Given the description of an element on the screen output the (x, y) to click on. 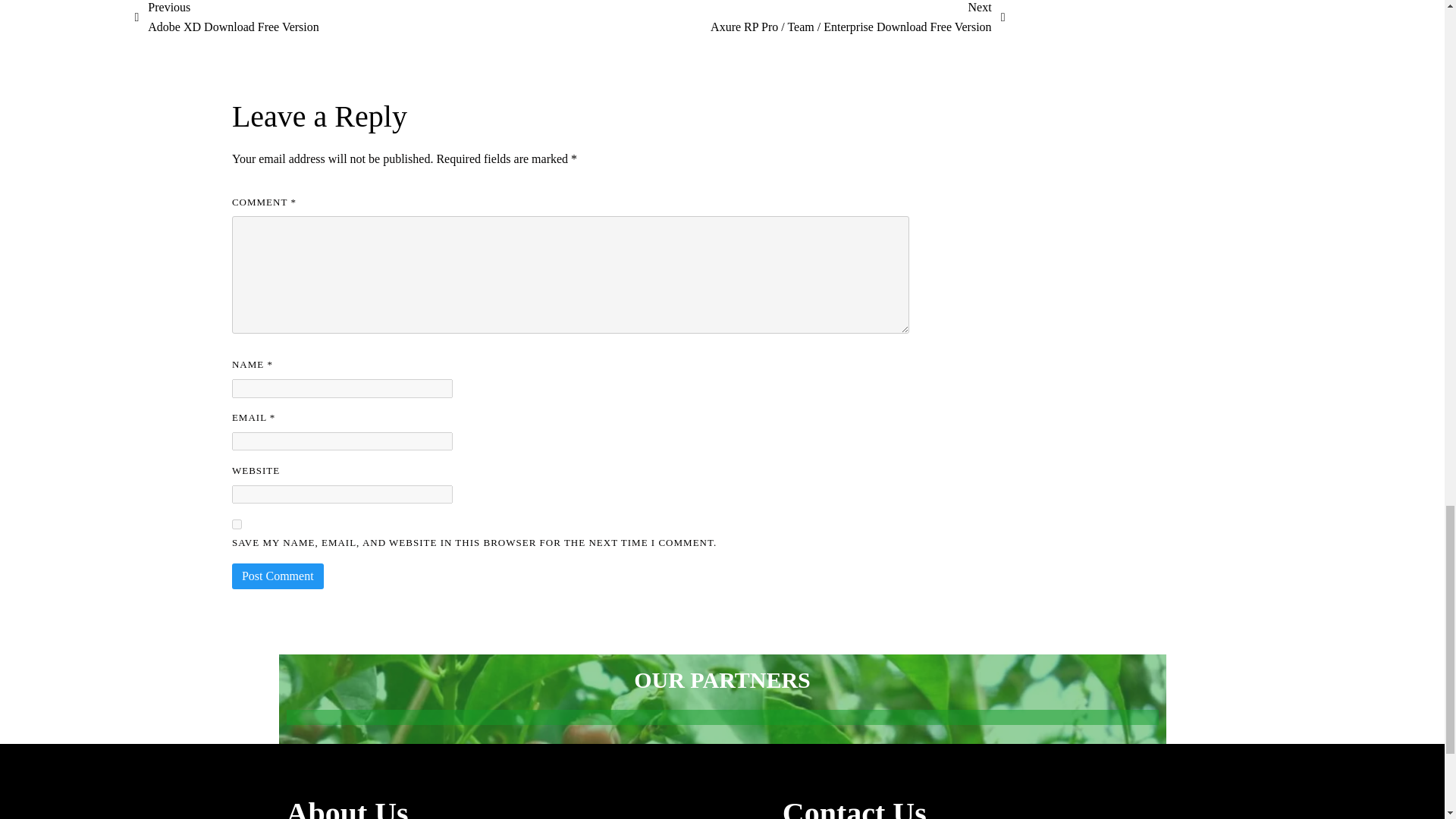
yes (236, 524)
Post Comment (225, 18)
Post Comment (277, 575)
